Given the description of an element on the screen output the (x, y) to click on. 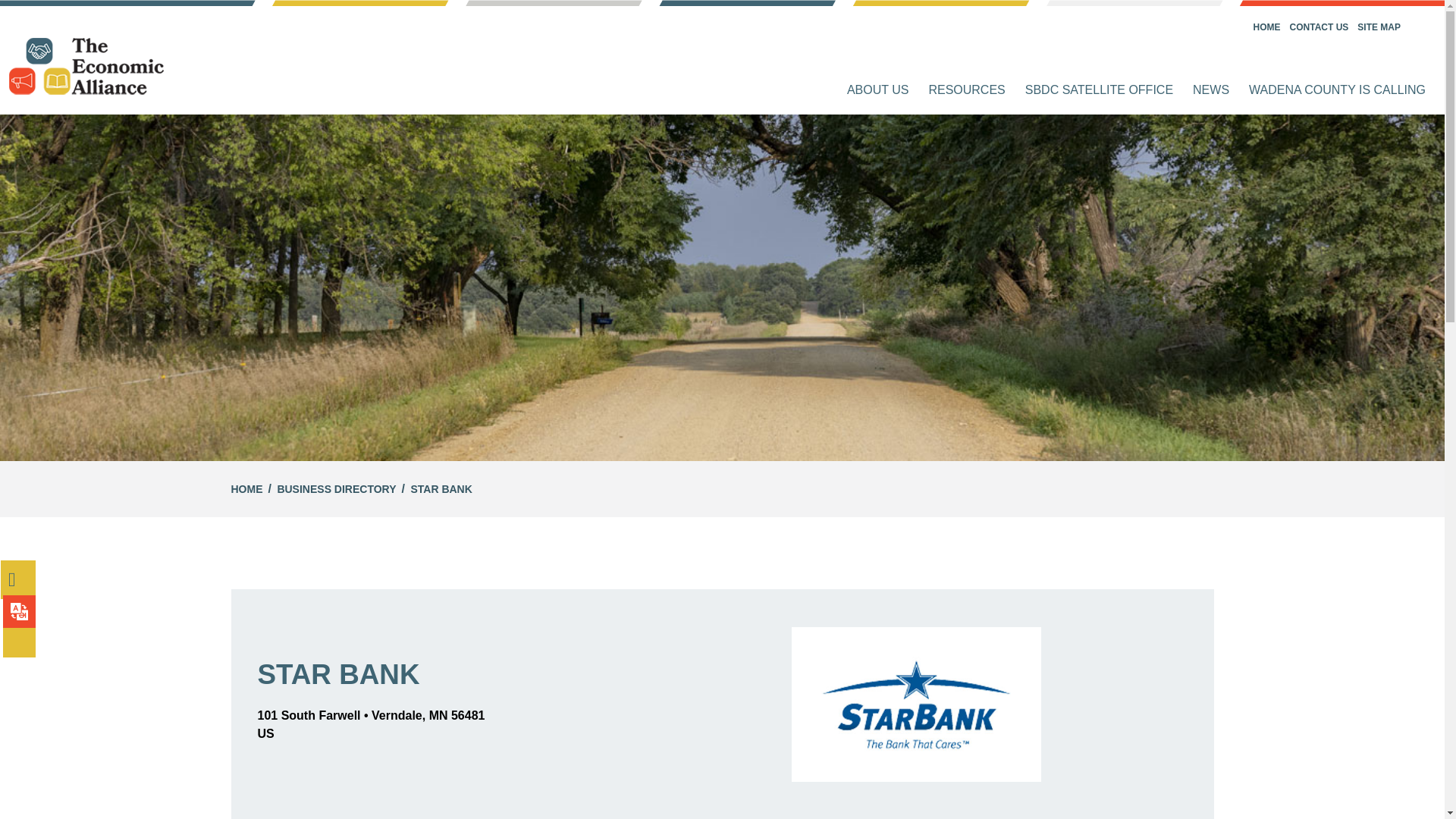
CONTACT US (1319, 27)
SBDC SATELLITE OFFICE (1098, 90)
WADENA COUNTY IS CALLING (1337, 90)
BUSINESS DIRECTORY (336, 489)
RESOURCES (966, 90)
ABOUT US (877, 90)
SITE MAP (1378, 27)
HOME (1267, 27)
NEWS (1210, 90)
STAR BANK (440, 489)
HOME (246, 489)
